Given the description of an element on the screen output the (x, y) to click on. 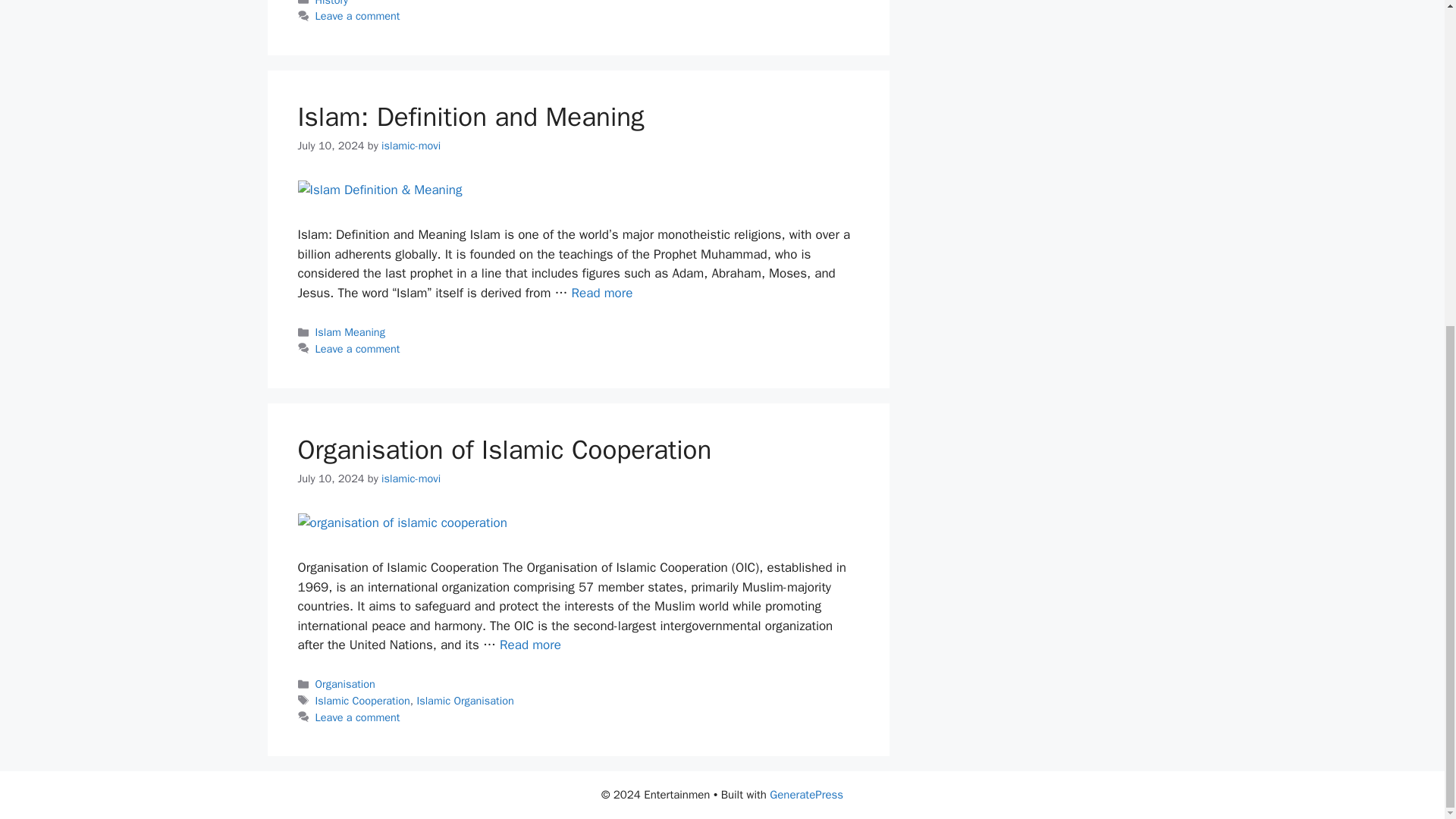
Islamic Cooperation (362, 700)
History (332, 3)
Leave a comment (357, 348)
Read more (529, 644)
Leave a comment (357, 716)
Organisation of Islamic Cooperation (529, 644)
GeneratePress (806, 794)
Islamic Organisation (464, 700)
Read more (602, 293)
Organisation of Islamic Cooperation (504, 449)
Islam: Definition and Meaning (470, 116)
islamic-movi (411, 145)
Leave a comment (357, 15)
Islam: Definition and Meaning (602, 293)
Islam Meaning (350, 332)
